Given the description of an element on the screen output the (x, y) to click on. 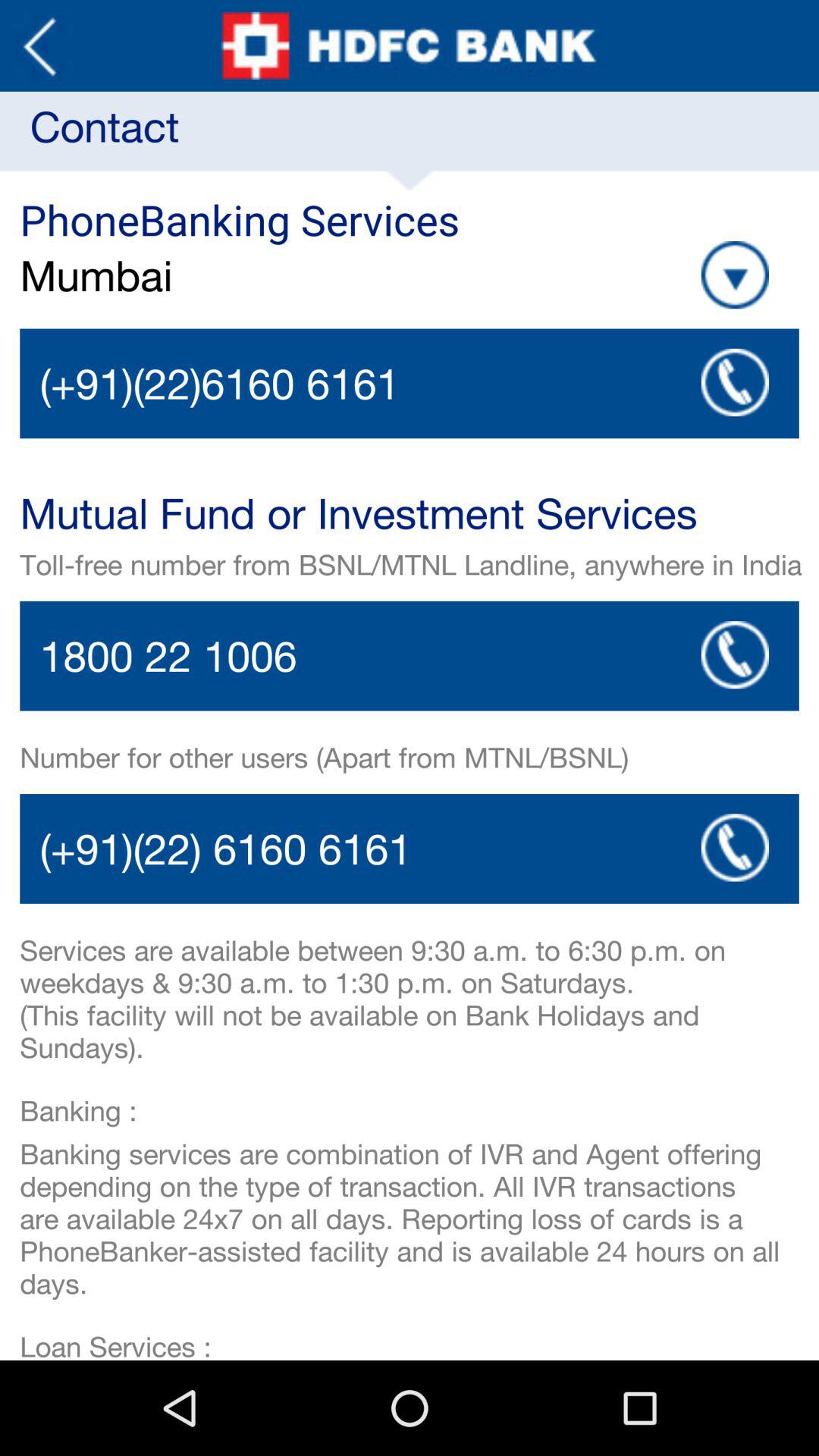
call option (409, 383)
